Given the description of an element on the screen output the (x, y) to click on. 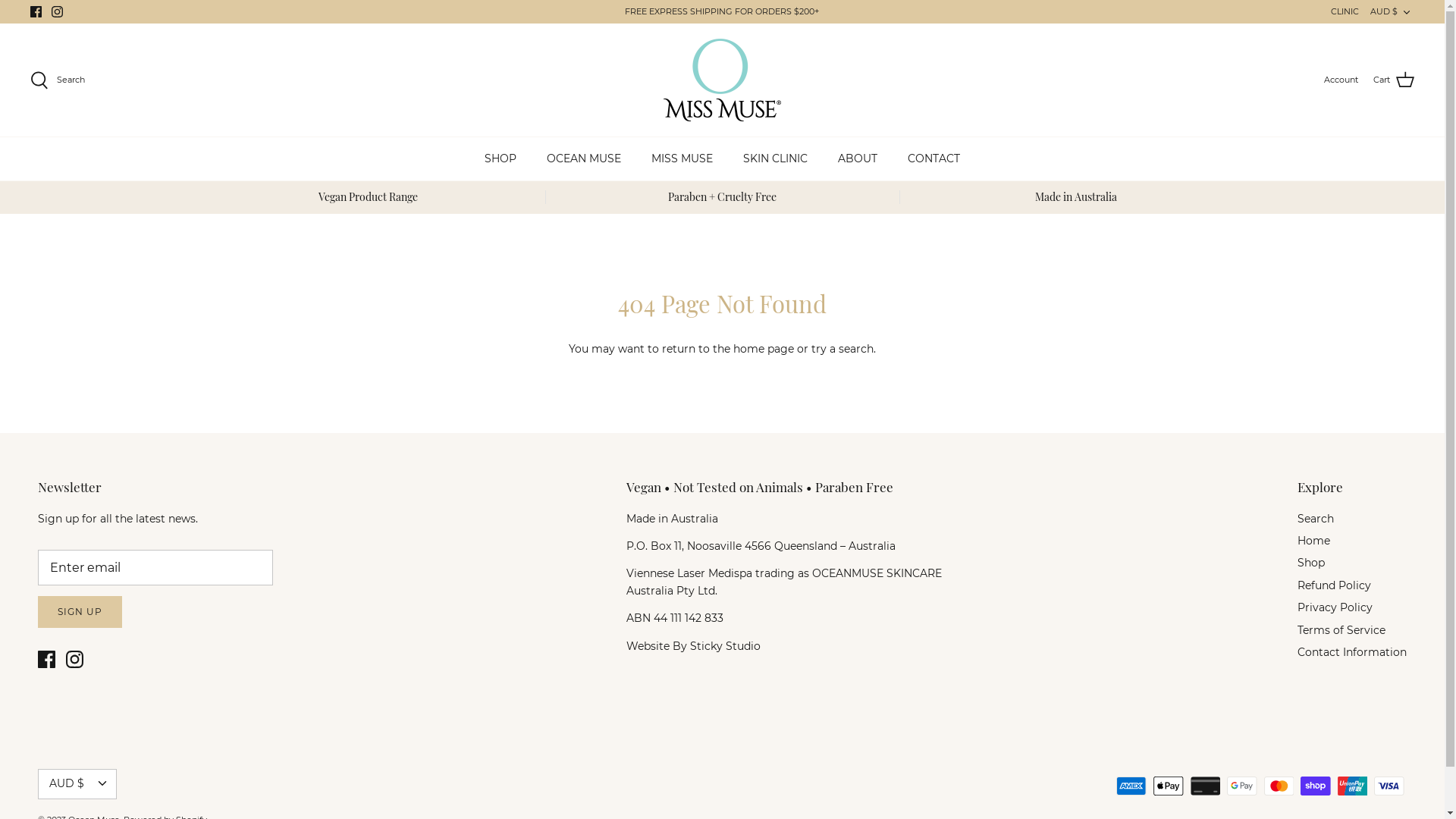
MISS MUSE Element type: text (681, 158)
AUD $
Down Element type: text (76, 783)
Facebook Element type: text (46, 659)
Account Element type: text (1341, 80)
SHOP Element type: text (500, 158)
Search Element type: text (1315, 518)
ABOUT Element type: text (857, 158)
Shop Element type: text (1310, 562)
Cart Element type: text (1393, 80)
FREE EXPRESS SHIPPING FOR ORDERS $200+ Element type: text (721, 11)
Ocean Muse Element type: hover (722, 79)
Home Element type: text (1313, 540)
CONTACT Element type: text (933, 158)
Refund Policy Element type: text (1334, 585)
AUD $
Down Element type: text (1392, 11)
Contact Information Element type: text (1351, 651)
Instagram Element type: text (74, 659)
Instagram Element type: text (56, 11)
Website By Sticky Studio Element type: text (693, 645)
CLINIC Element type: text (1344, 11)
Privacy Policy Element type: text (1334, 607)
try a search Element type: text (842, 348)
SIGN UP Element type: text (79, 612)
SKIN CLINIC Element type: text (775, 158)
home page Element type: text (763, 348)
Facebook Element type: text (35, 11)
Search Element type: text (57, 80)
OCEAN MUSE Element type: text (583, 158)
Terms of Service Element type: text (1341, 630)
